Given the description of an element on the screen output the (x, y) to click on. 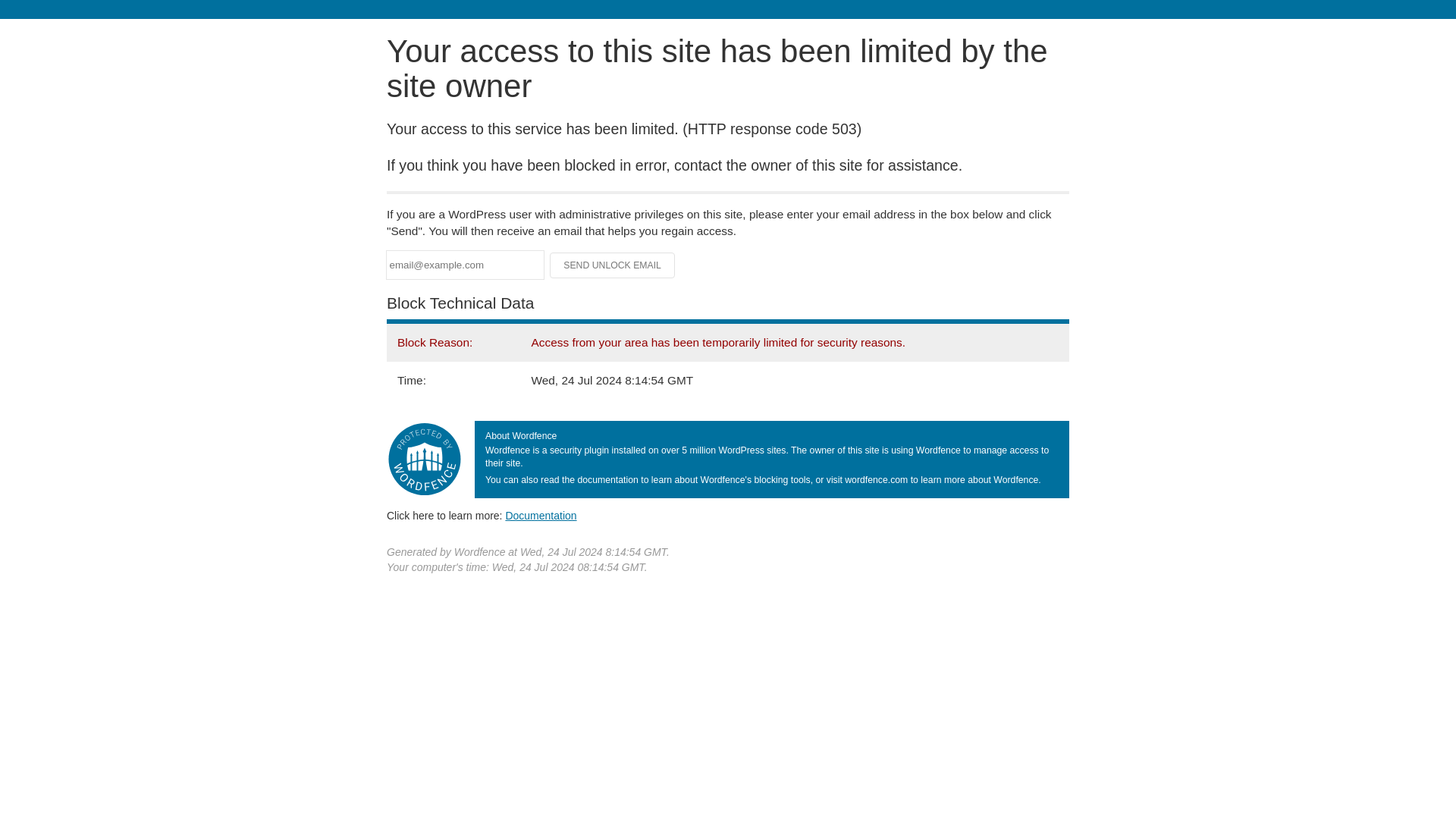
Send Unlock Email (612, 265)
Send Unlock Email (612, 265)
Documentation (540, 515)
